Given the description of an element on the screen output the (x, y) to click on. 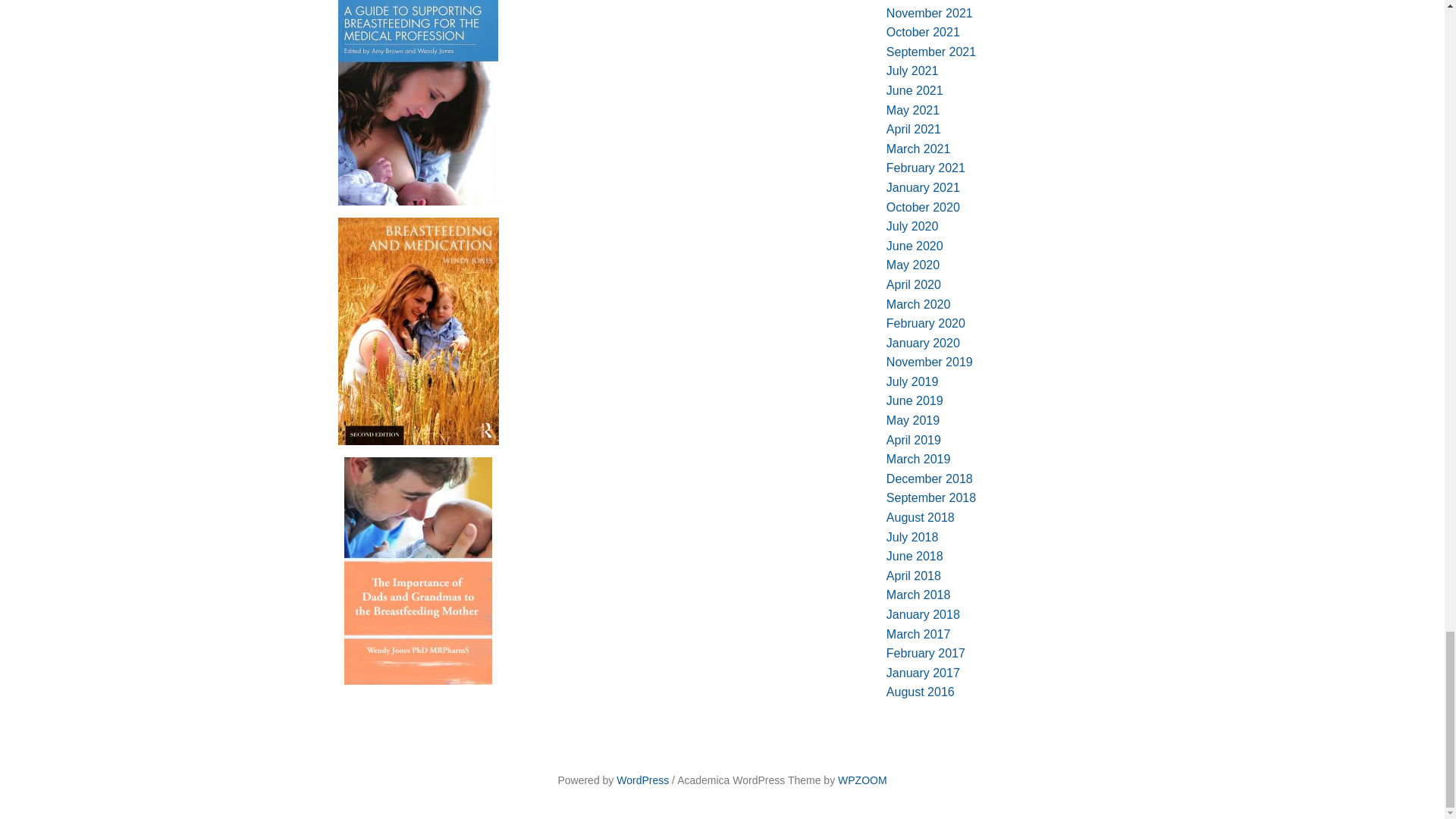
Breastfeeding and Medication, Wendy Jones (418, 331)
